Given the description of an element on the screen output the (x, y) to click on. 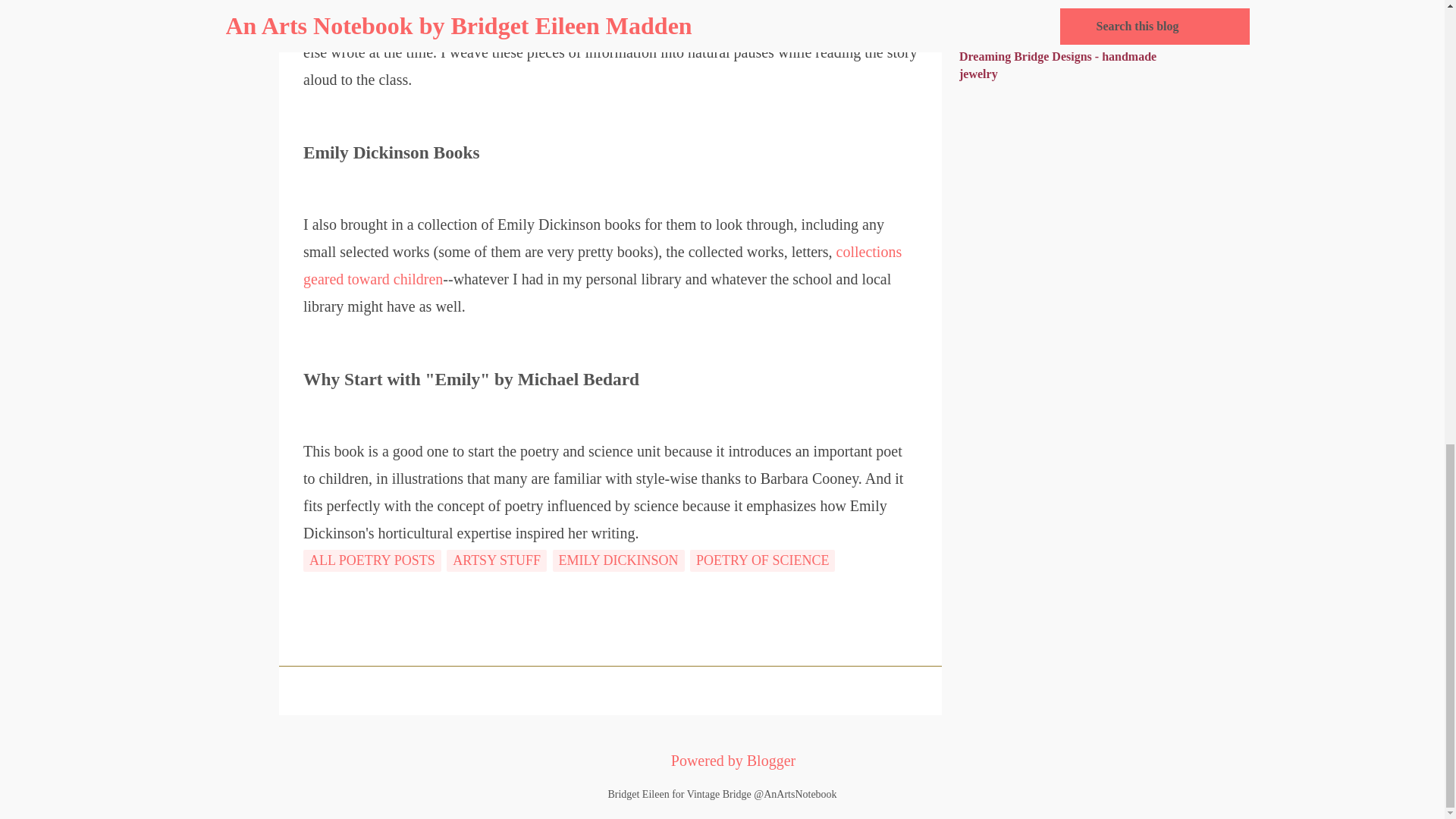
POETRY OF SCIENCE (762, 560)
Powered by Blogger (721, 760)
ALL POETRY POSTS (371, 560)
EMILY DICKINSON (617, 560)
collections geared toward children (601, 265)
A Vegetarian Notebook - recipes and notes (1053, 13)
ARTSY STUFF (496, 560)
Dreaming Bridge Designs - handmade jewelry (1057, 64)
